Given the description of an element on the screen output the (x, y) to click on. 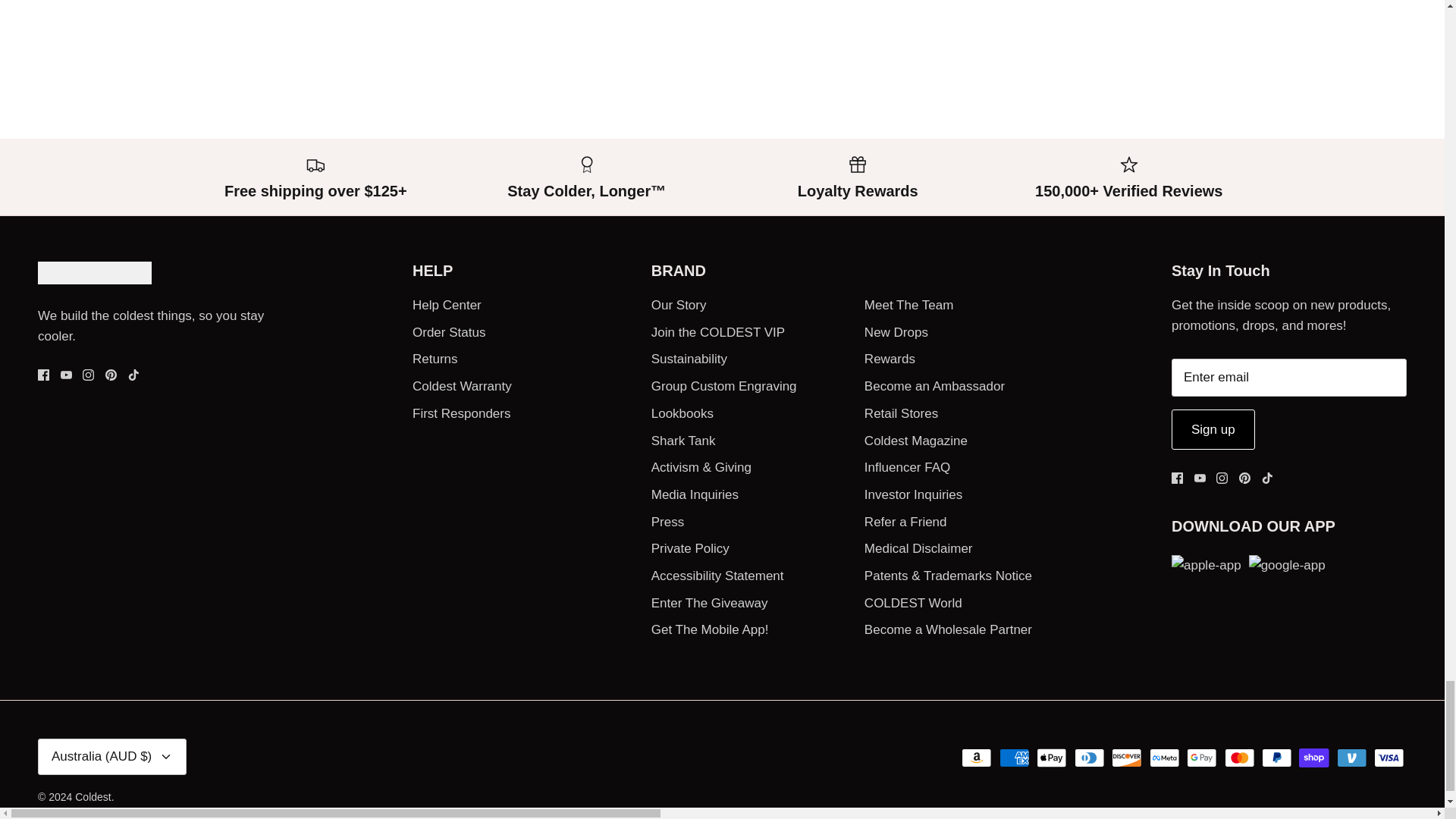
American Express (1013, 757)
Youtube (1199, 478)
Youtube (66, 374)
Pinterest (1244, 478)
Instagram (88, 374)
Facebook (43, 374)
Instagram (1221, 478)
Apple Pay (1051, 757)
Amazon (975, 757)
Facebook (1177, 478)
